Given the description of an element on the screen output the (x, y) to click on. 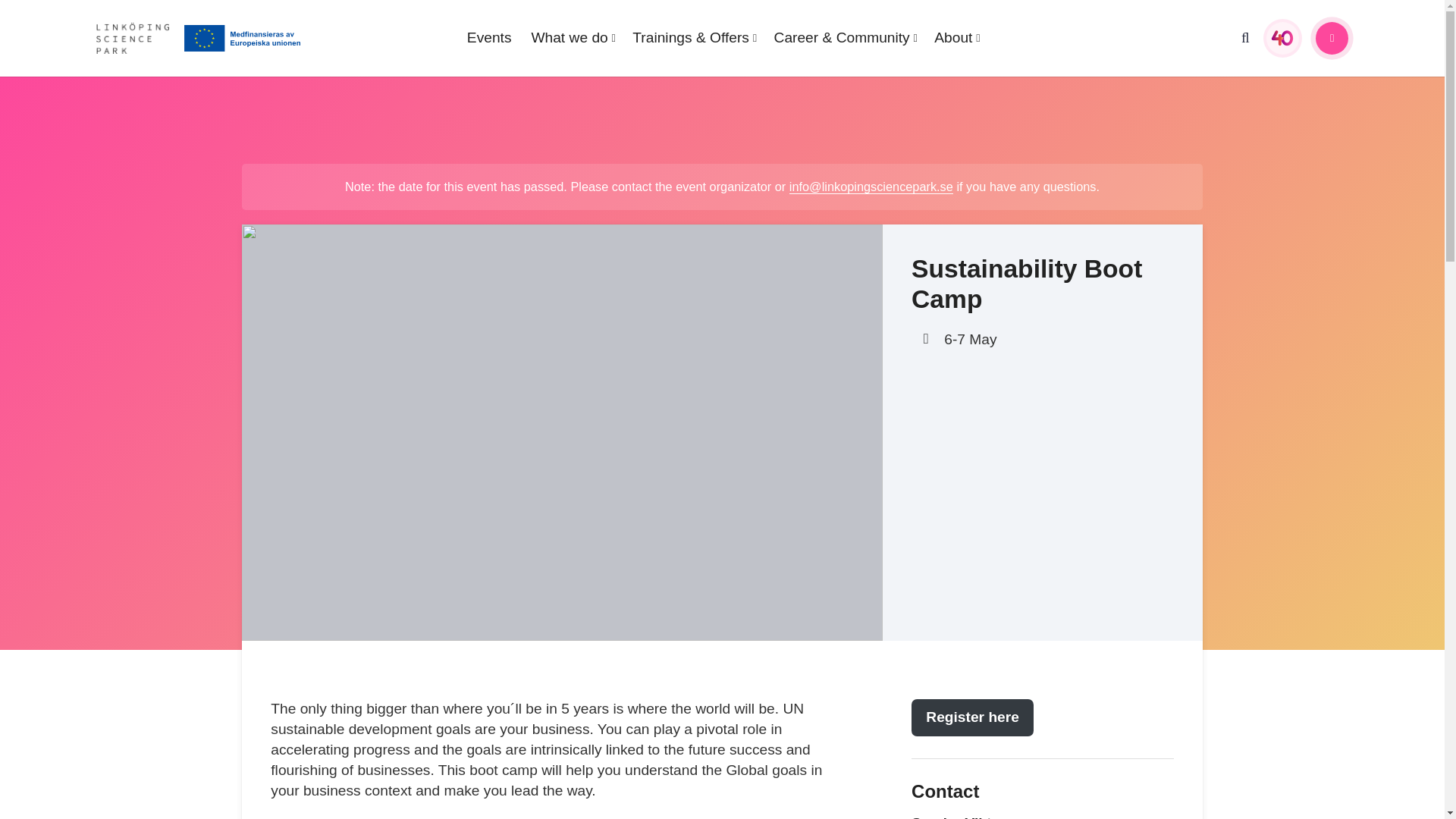
What we do (572, 37)
